Given the description of an element on the screen output the (x, y) to click on. 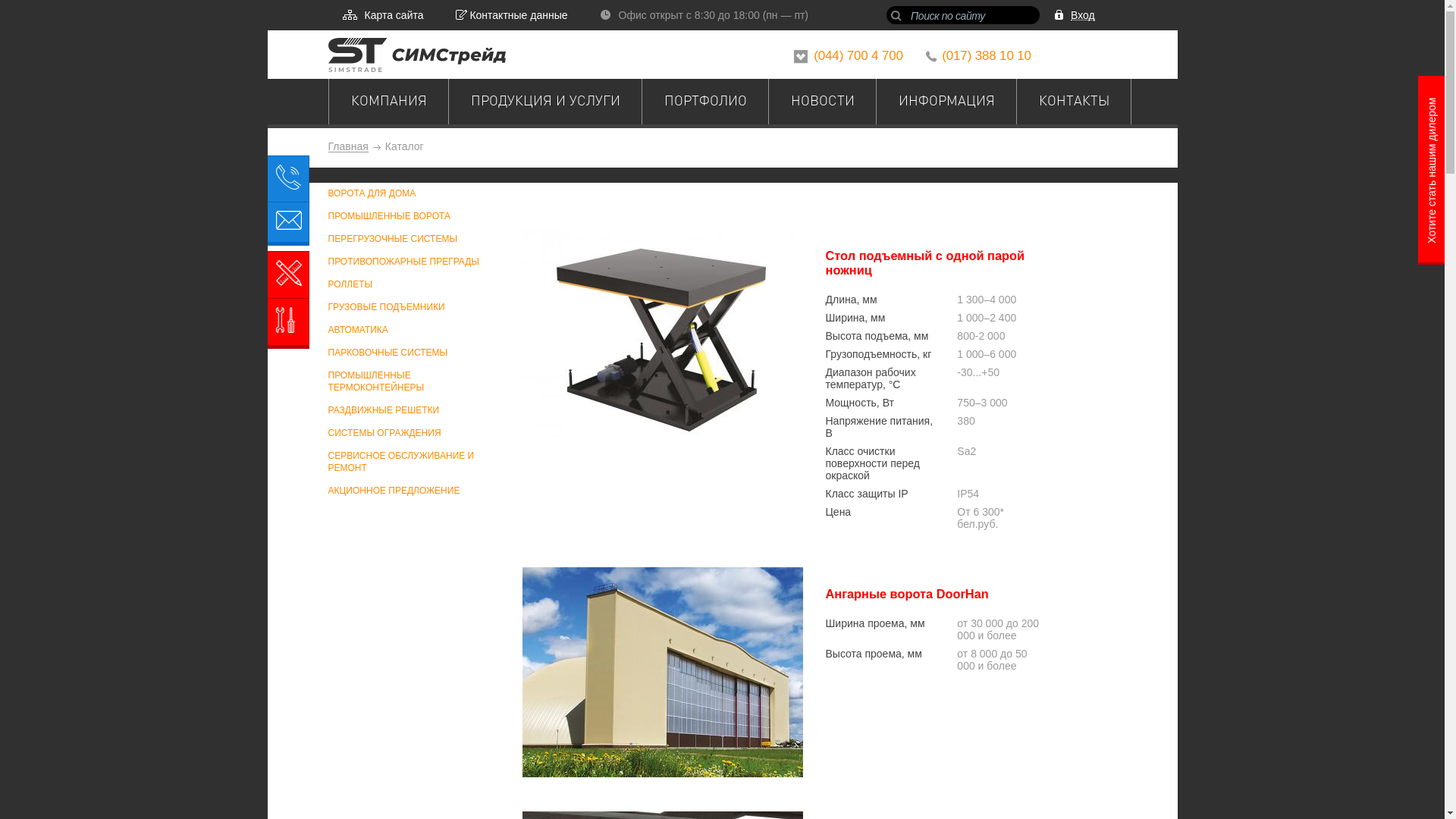
(044) 700 4 700 Element type: text (858, 55)
(017) 388 10 10 Element type: text (986, 55)
